Given the description of an element on the screen output the (x, y) to click on. 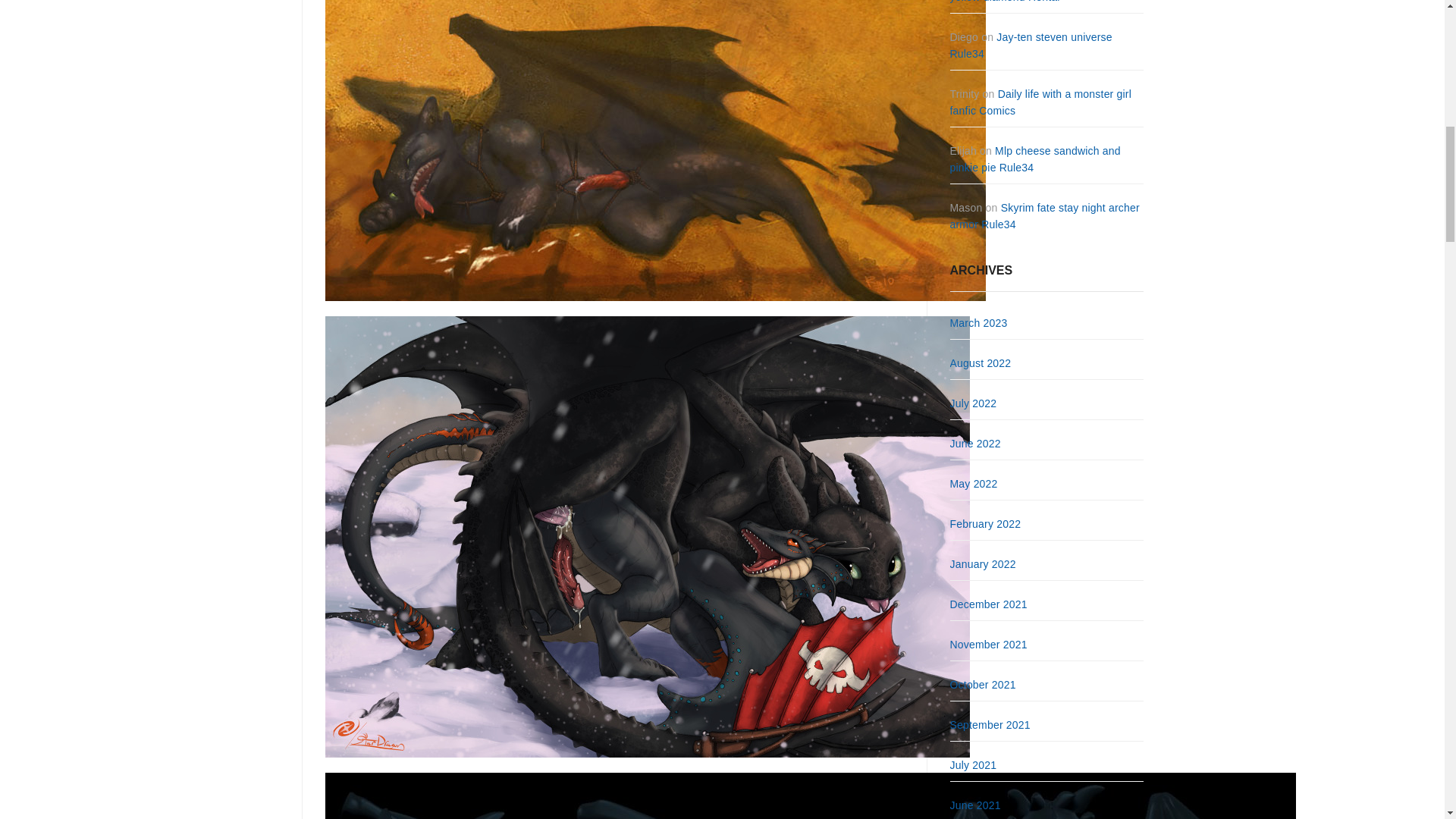
December 2021 (987, 604)
October 2021 (981, 684)
Steven universe blue and yellow diamond Hentai (1035, 1)
Mlp cheese sandwich and pinkie pie Rule34 (1034, 158)
Skyrim fate stay night archer armor Rule34 (1043, 215)
Daily life with a monster girl fanfic Comics (1040, 102)
March 2023 (978, 322)
February 2022 (984, 523)
January 2022 (981, 563)
June 2022 (974, 443)
Jay-ten steven universe Rule34 (1030, 45)
July 2022 (972, 403)
November 2021 (987, 644)
September 2021 (989, 725)
May 2022 (973, 483)
